Given the description of an element on the screen output the (x, y) to click on. 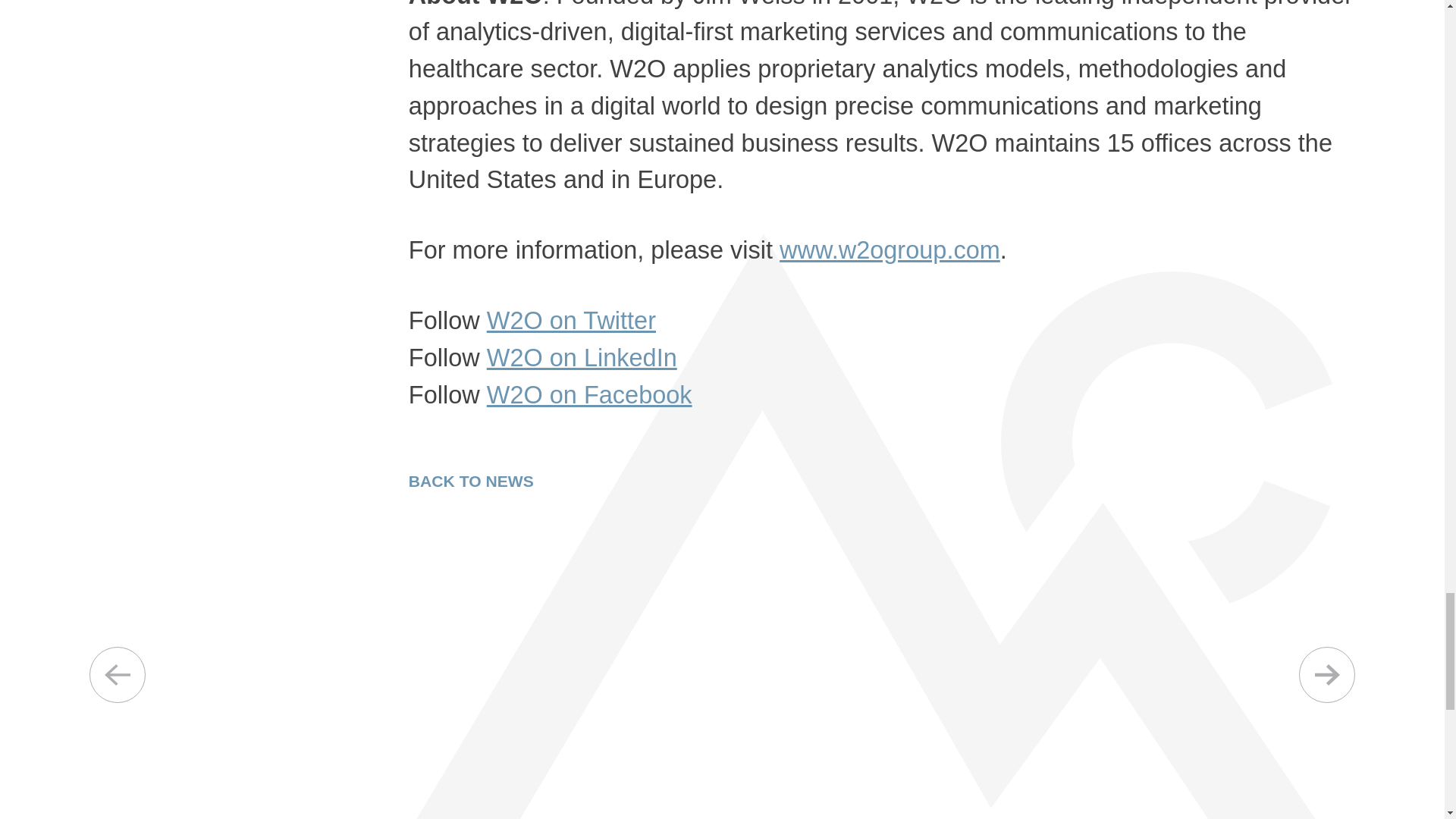
W2O on Facebook (589, 394)
W2O on Twitter (571, 320)
BACK TO NEWS (471, 480)
www.w2ogroup.com (889, 249)
W2O on LinkedIn (581, 357)
